Given the description of an element on the screen output the (x, y) to click on. 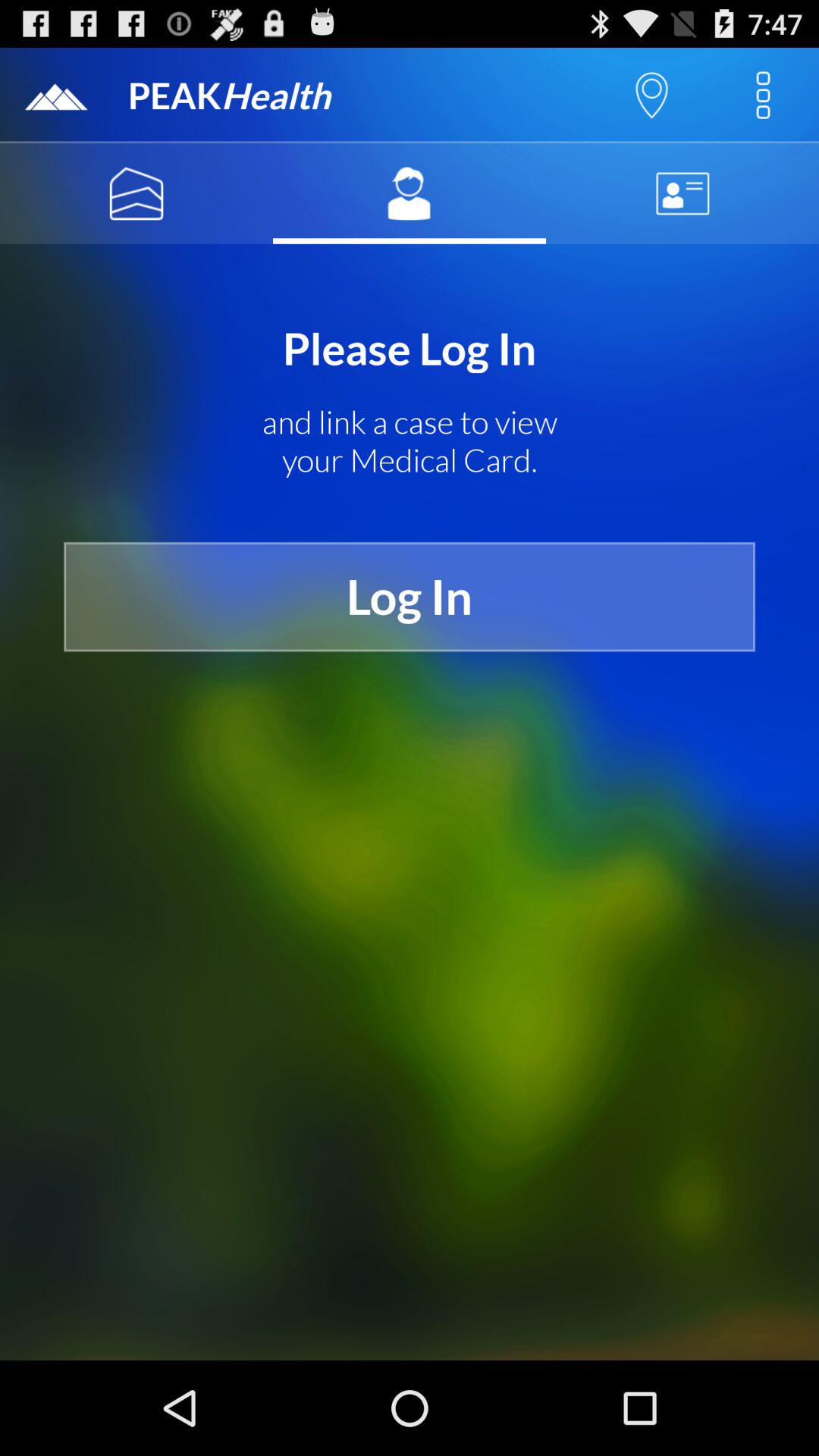
view patient medical card (409, 193)
